Given the description of an element on the screen output the (x, y) to click on. 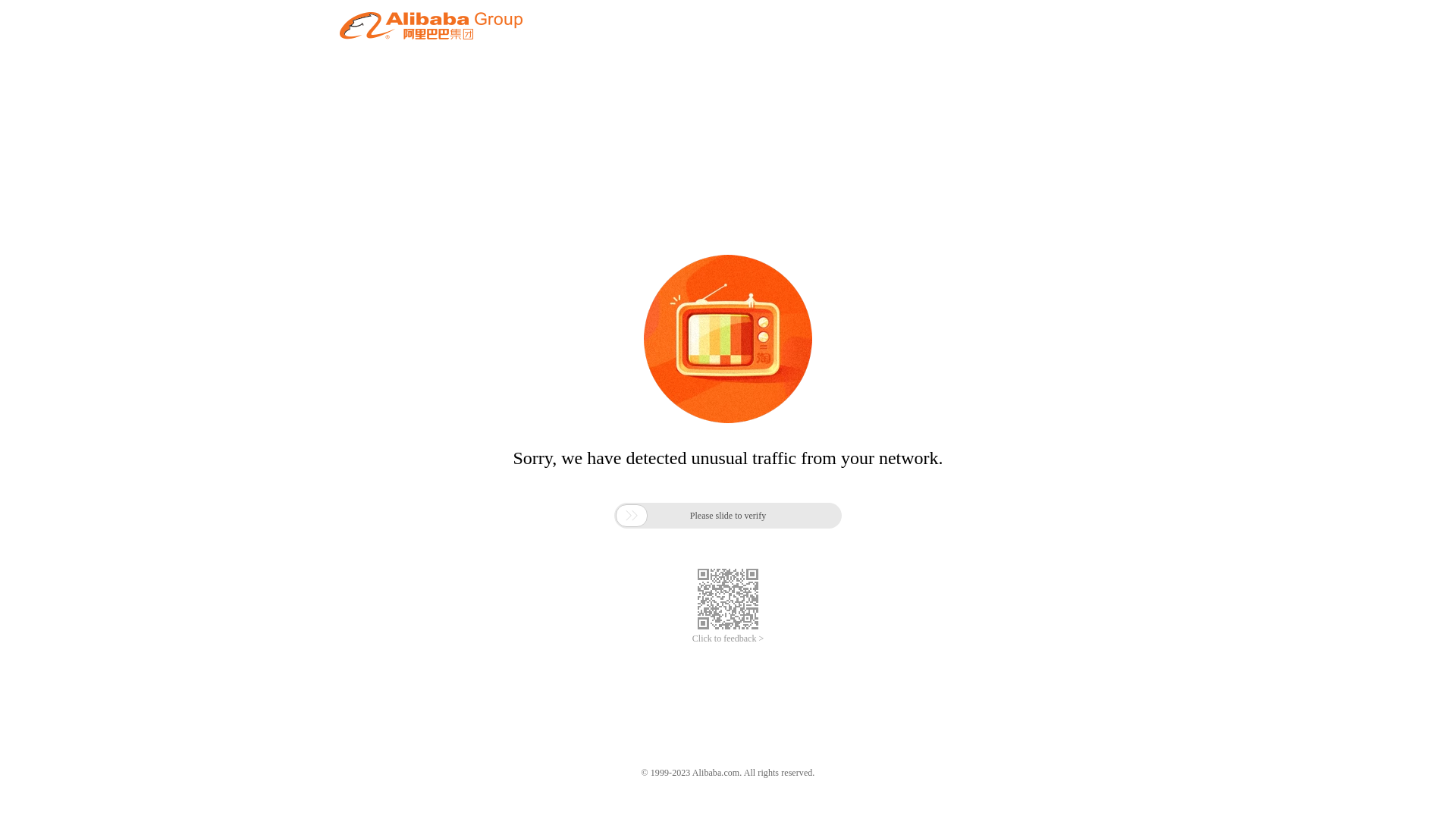
Click to feedback > Element type: text (727, 638)
